Given the description of an element on the screen output the (x, y) to click on. 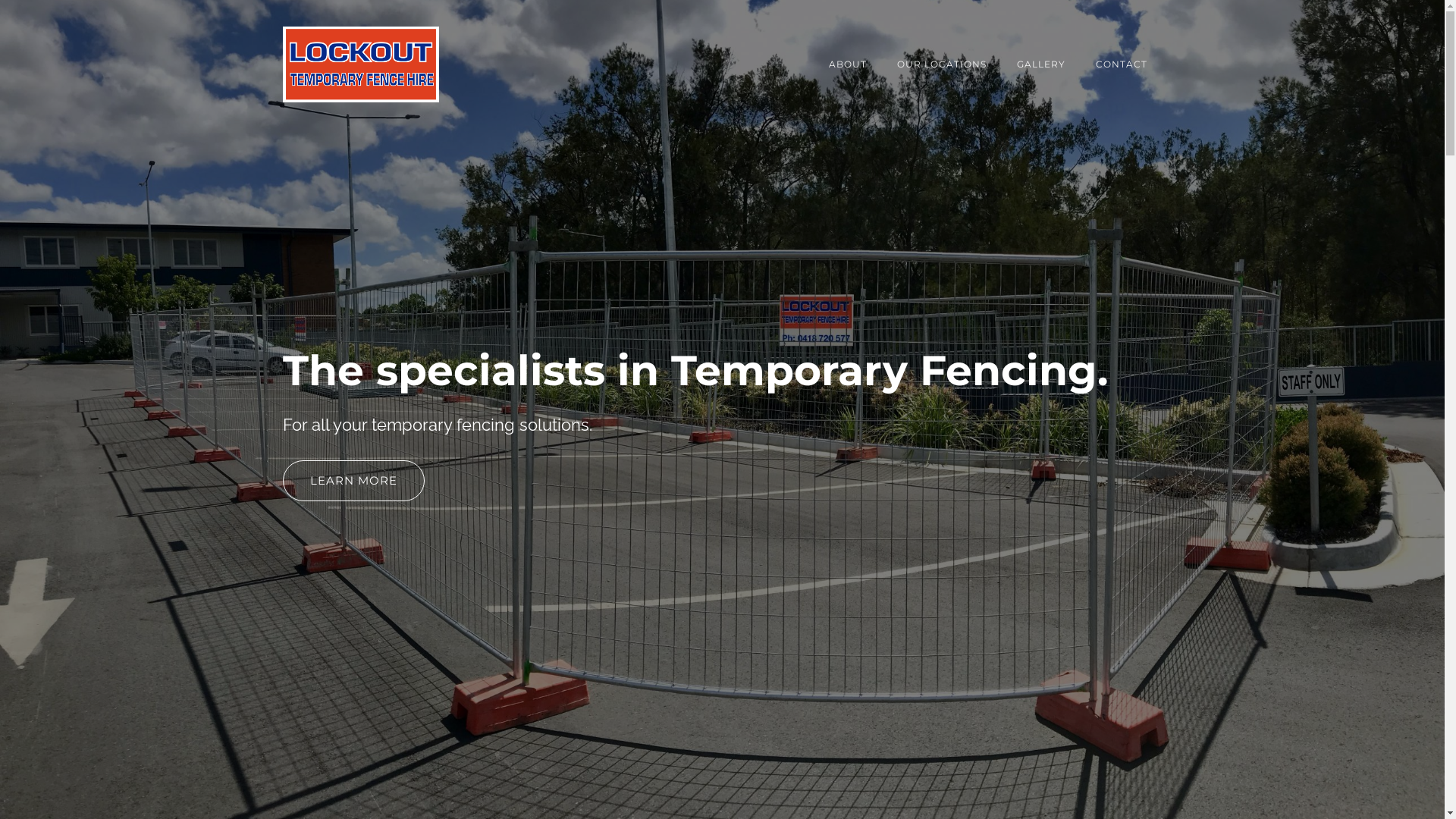
OUR LOCATIONS Element type: text (941, 63)
LEARN MORE Element type: text (352, 480)
CONTACT Element type: text (1120, 63)
GALLERY Element type: text (1040, 63)
ABOUT Element type: text (846, 63)
